Given the description of an element on the screen output the (x, y) to click on. 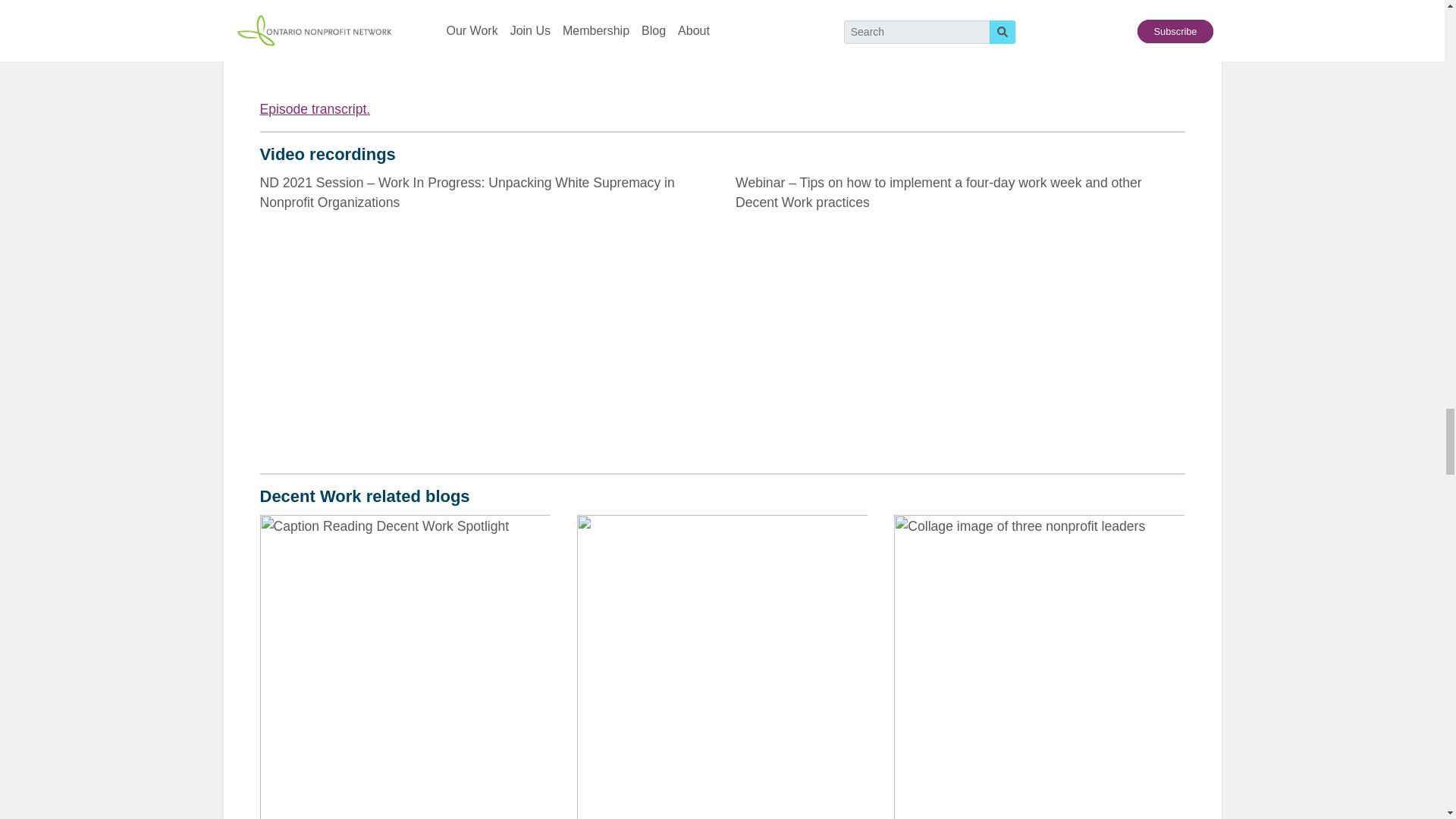
Episode transcript. (314, 109)
